Given the description of an element on the screen output the (x, y) to click on. 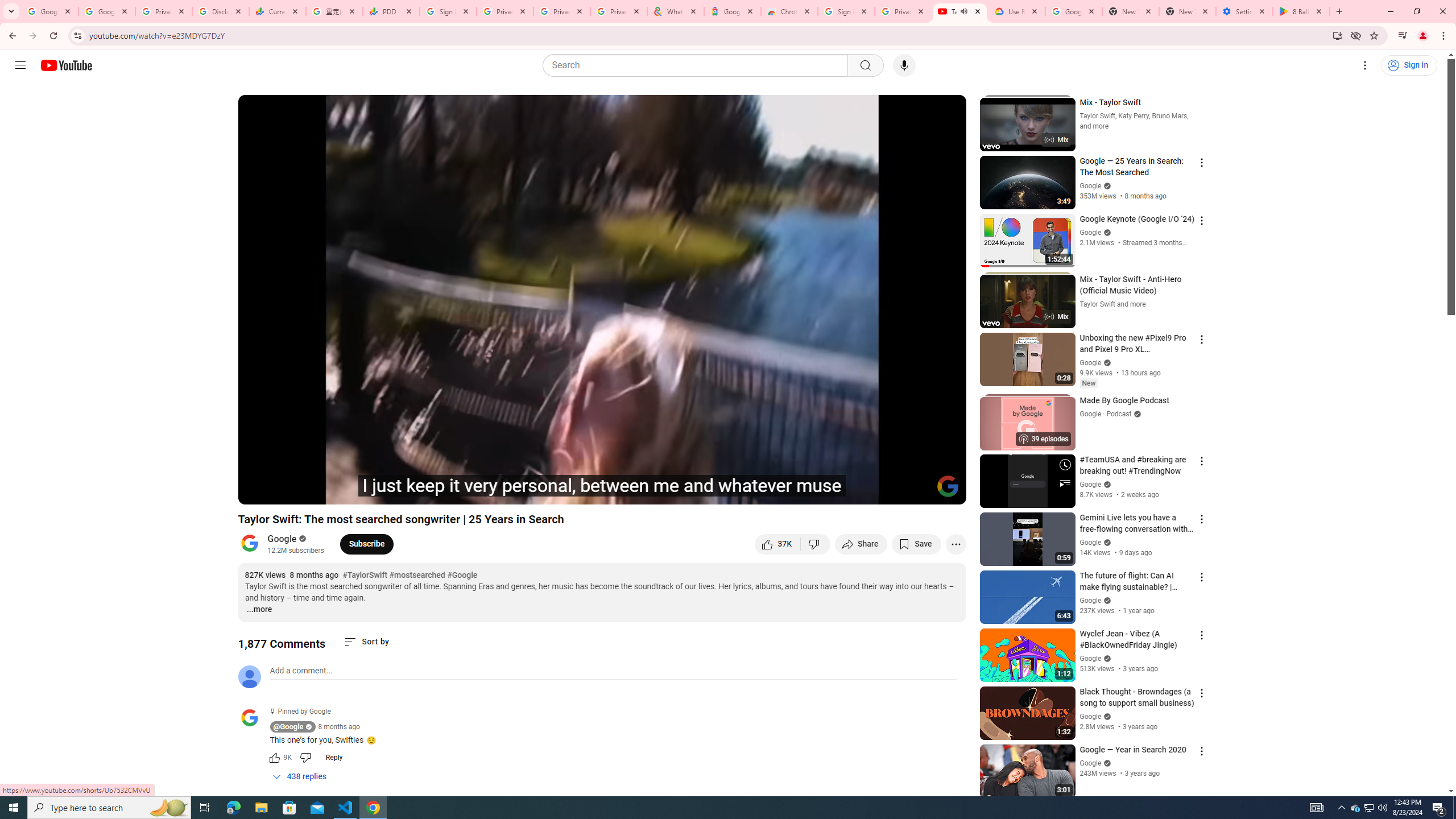
Privacy Checkup (618, 11)
Sign in - Google Accounts (845, 11)
Next (SHIFT+n) (284, 490)
Dislike this video (815, 543)
Reply (333, 757)
Google (731, 11)
